Given the description of an element on the screen output the (x, y) to click on. 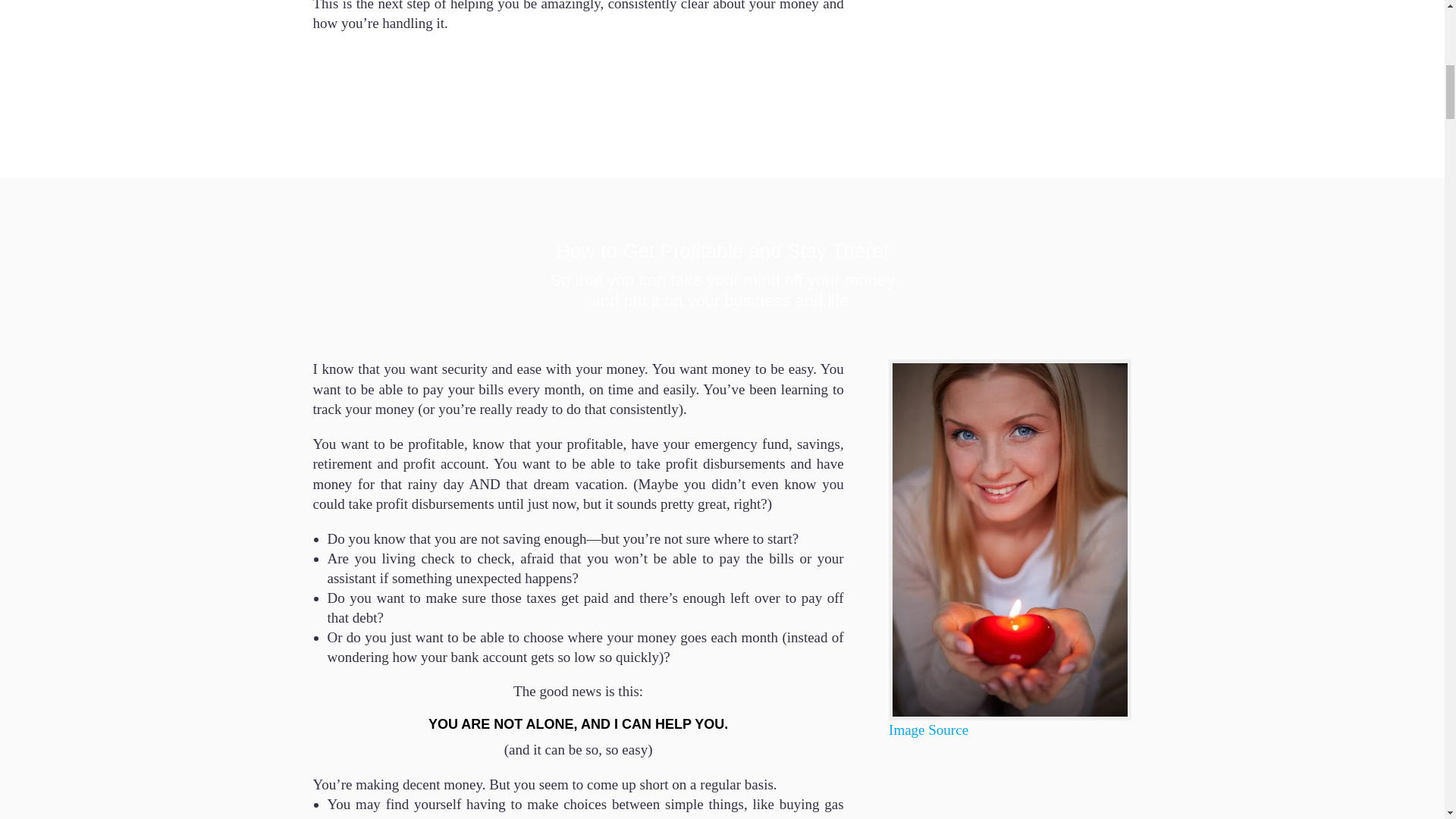
Image Source (928, 729)
Image courtesy of Freepik (928, 729)
